Given the description of an element on the screen output the (x, y) to click on. 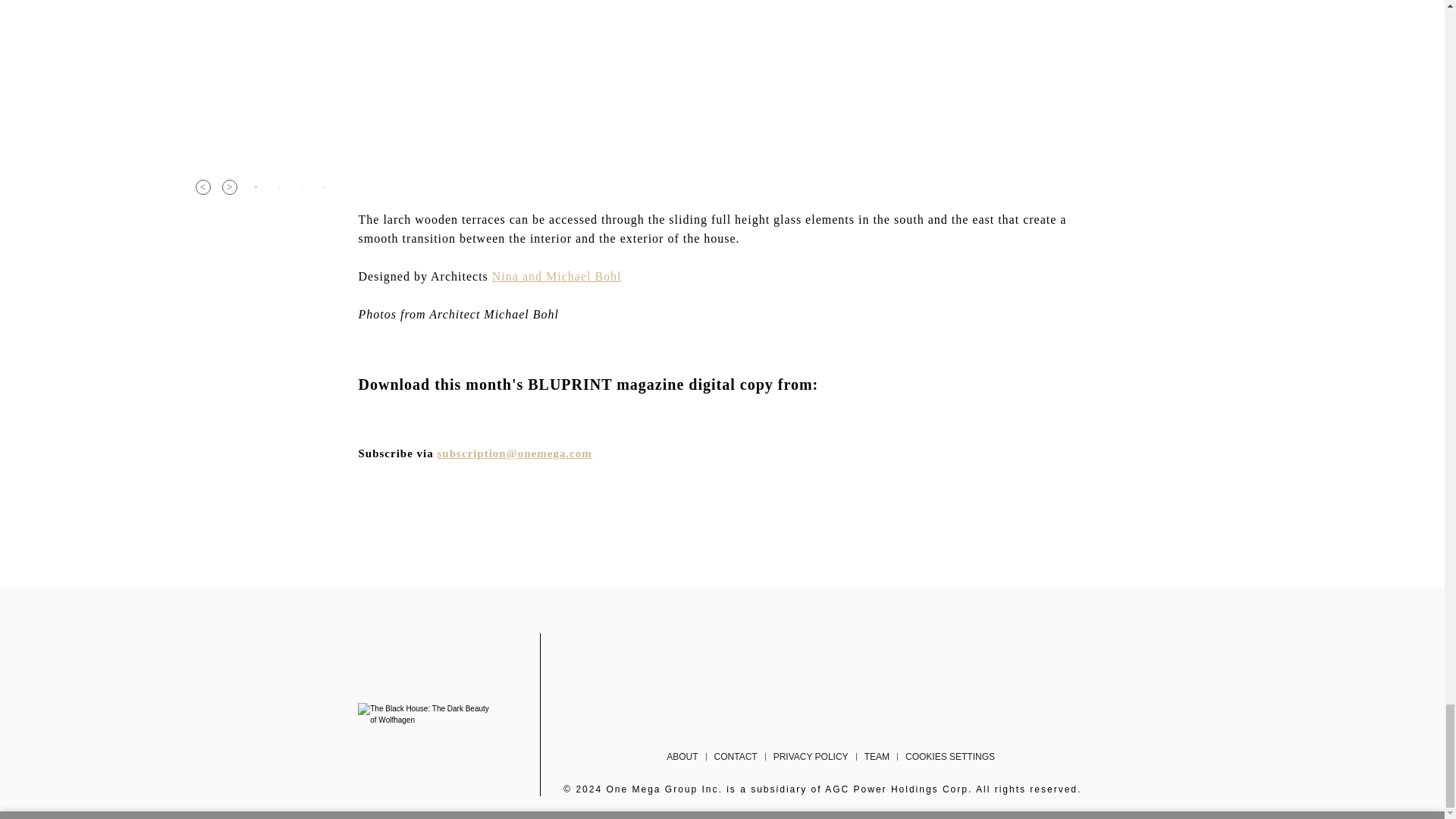
3 (301, 186)
2 (278, 186)
1 (255, 186)
Nina and Michael Bohl (556, 276)
The Black House: The Dark Beauty of Wolfhagen (426, 713)
Previous (203, 186)
Next (228, 186)
Subscribe now! (515, 453)
4 (324, 186)
